Given the description of an element on the screen output the (x, y) to click on. 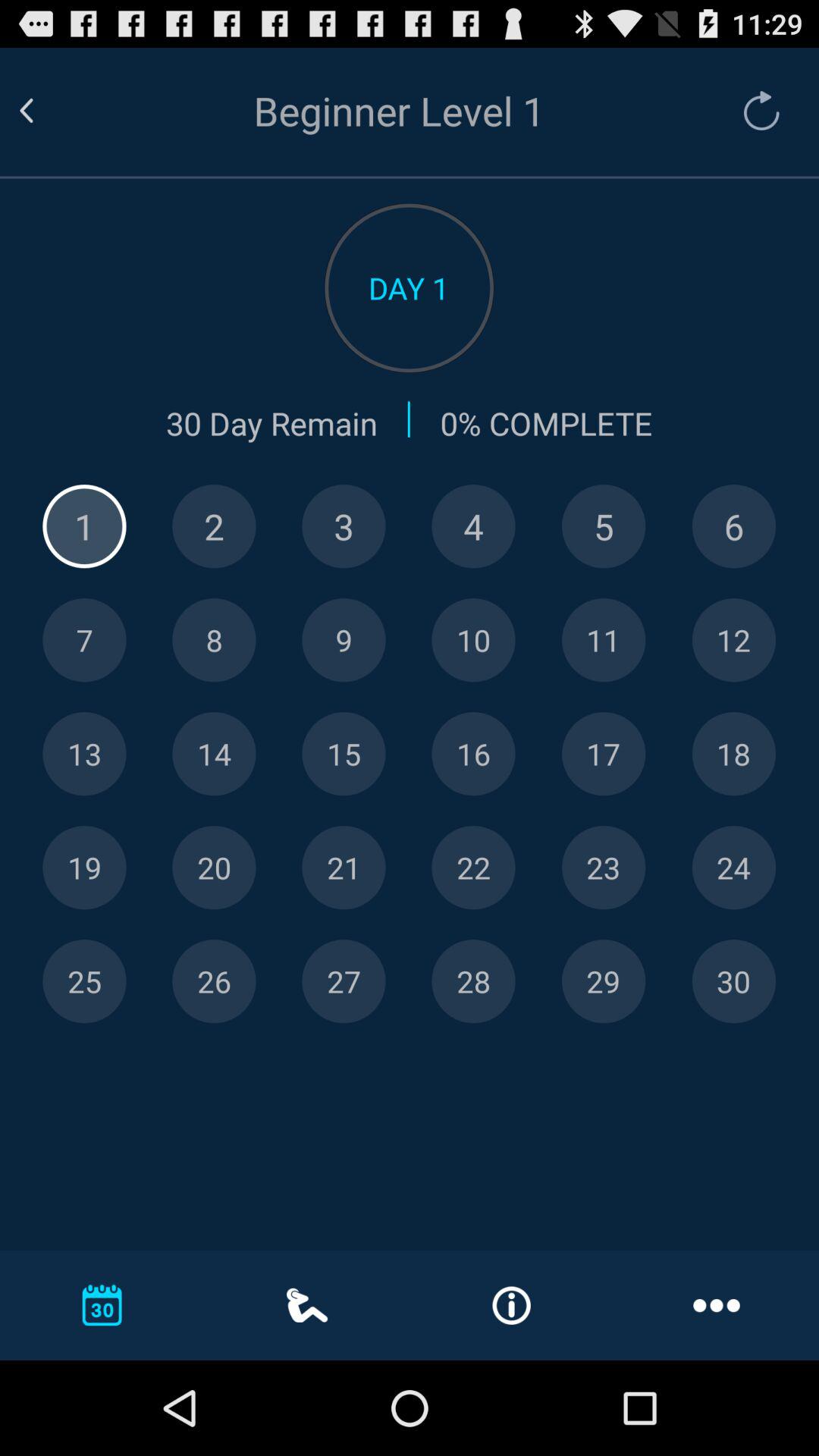
go to back (44, 110)
